Given the description of an element on the screen output the (x, y) to click on. 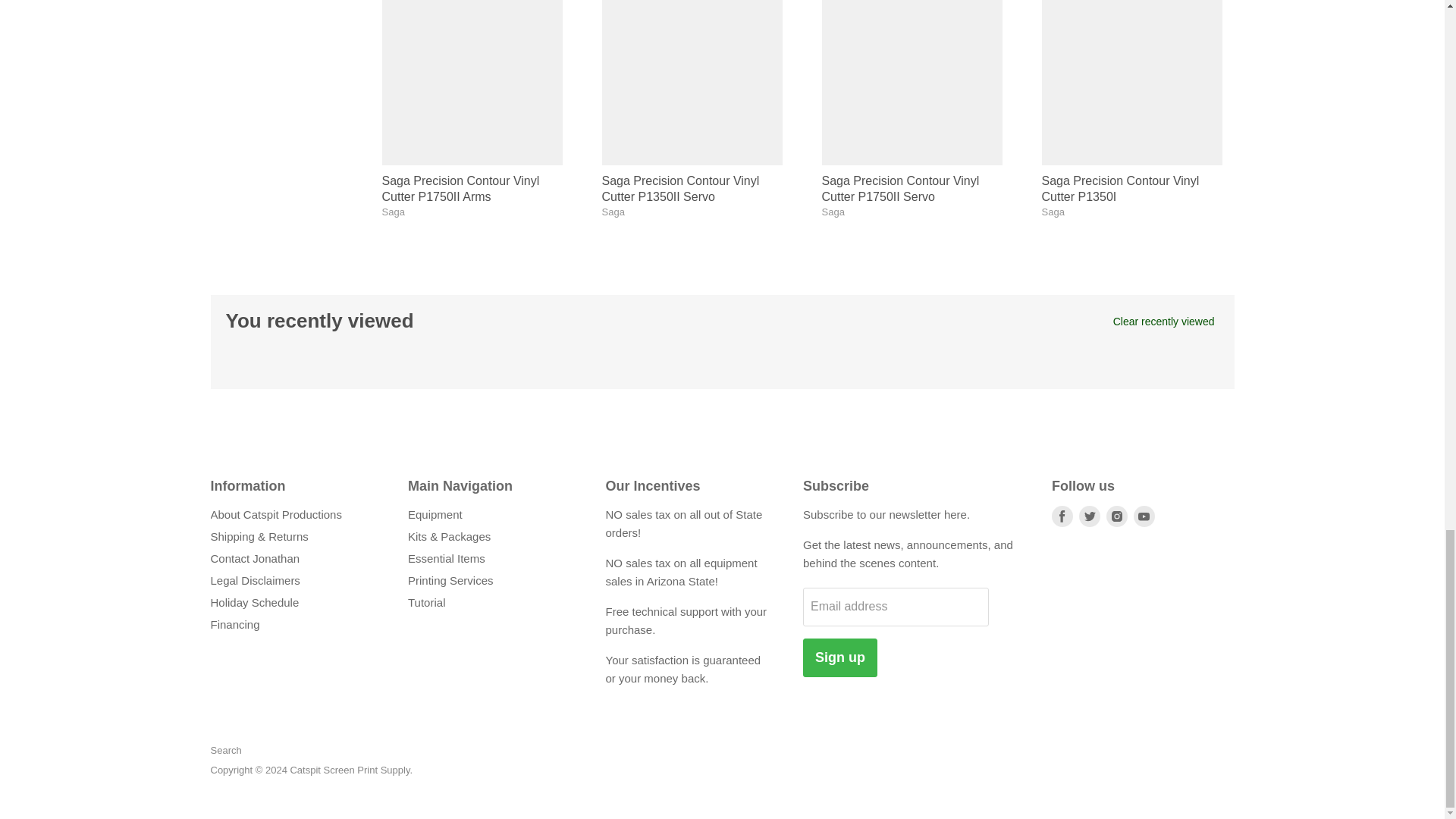
Saga (392, 211)
Instagram (1117, 515)
Saga (833, 211)
Twitter (1089, 515)
Youtube (1144, 515)
Saga (1053, 211)
Facebook (1061, 515)
Saga (613, 211)
